Given the description of an element on the screen output the (x, y) to click on. 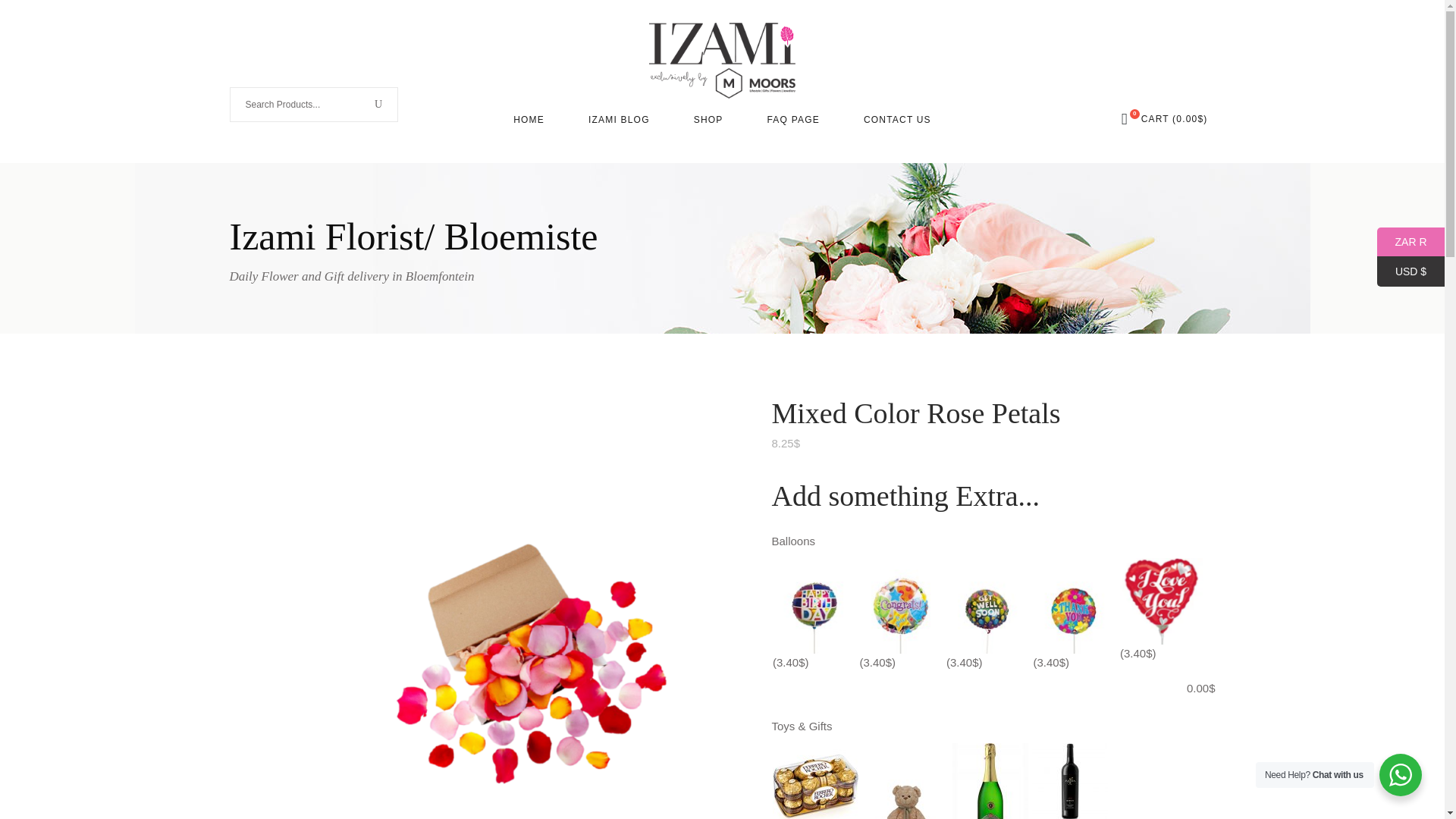
IZAMI BLOG (618, 119)
Search for: (298, 104)
CONTACT US (897, 119)
FAQ PAGE (792, 119)
